Given the description of an element on the screen output the (x, y) to click on. 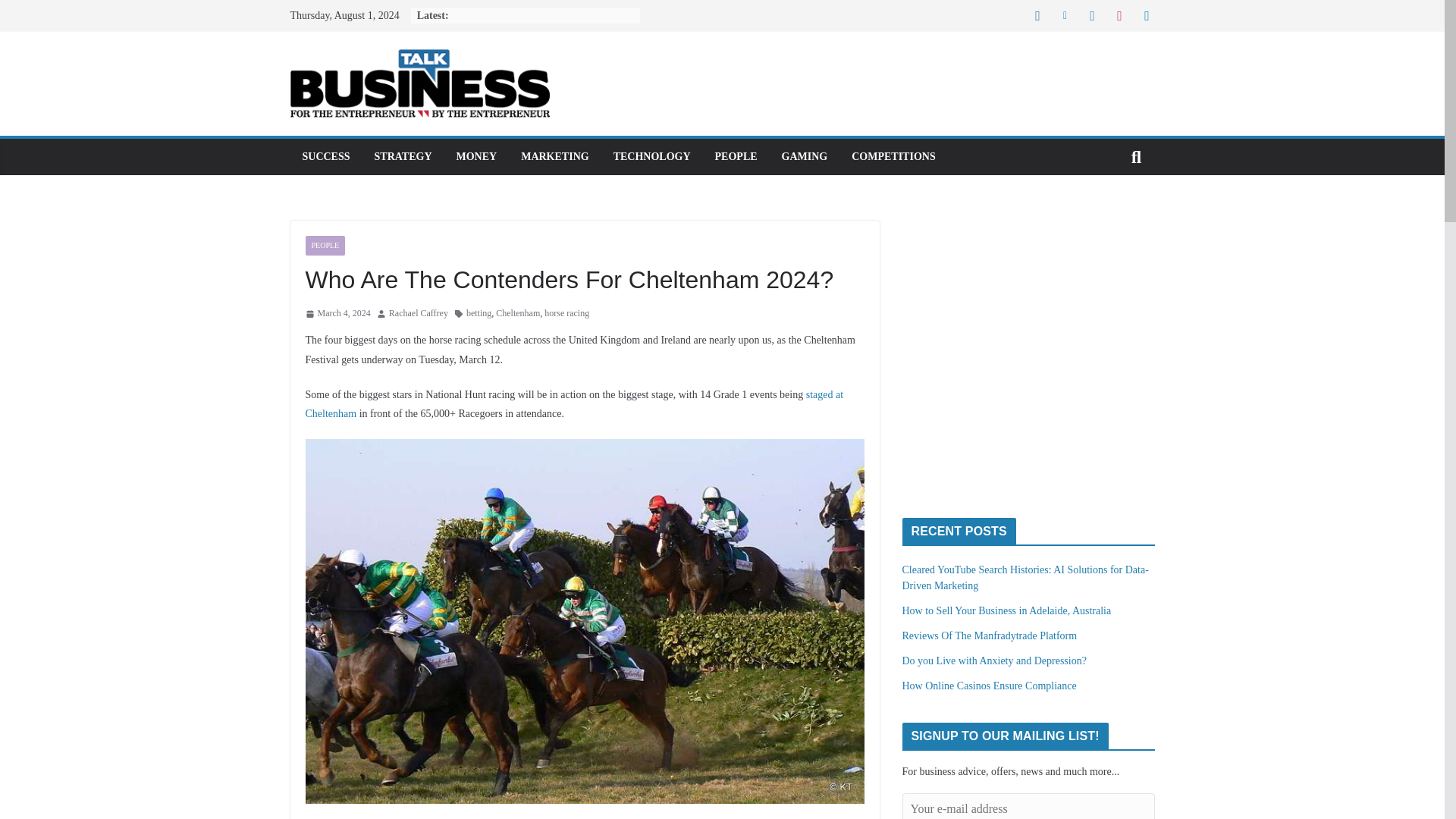
Cheltenham (518, 313)
SUCCESS (325, 156)
TECHNOLOGY (651, 156)
COMPETITIONS (892, 156)
MONEY (477, 156)
betting (478, 313)
PEOPLE (324, 245)
GAMING (804, 156)
Do you Live with Anxiety and Depression? (994, 660)
staged at Cheltenham (573, 404)
Reviews Of The Manfradytrade Platform (989, 635)
3:30 pm (336, 313)
Rachael Caffrey (418, 313)
horse racing (566, 313)
STRATEGY (403, 156)
